Given the description of an element on the screen output the (x, y) to click on. 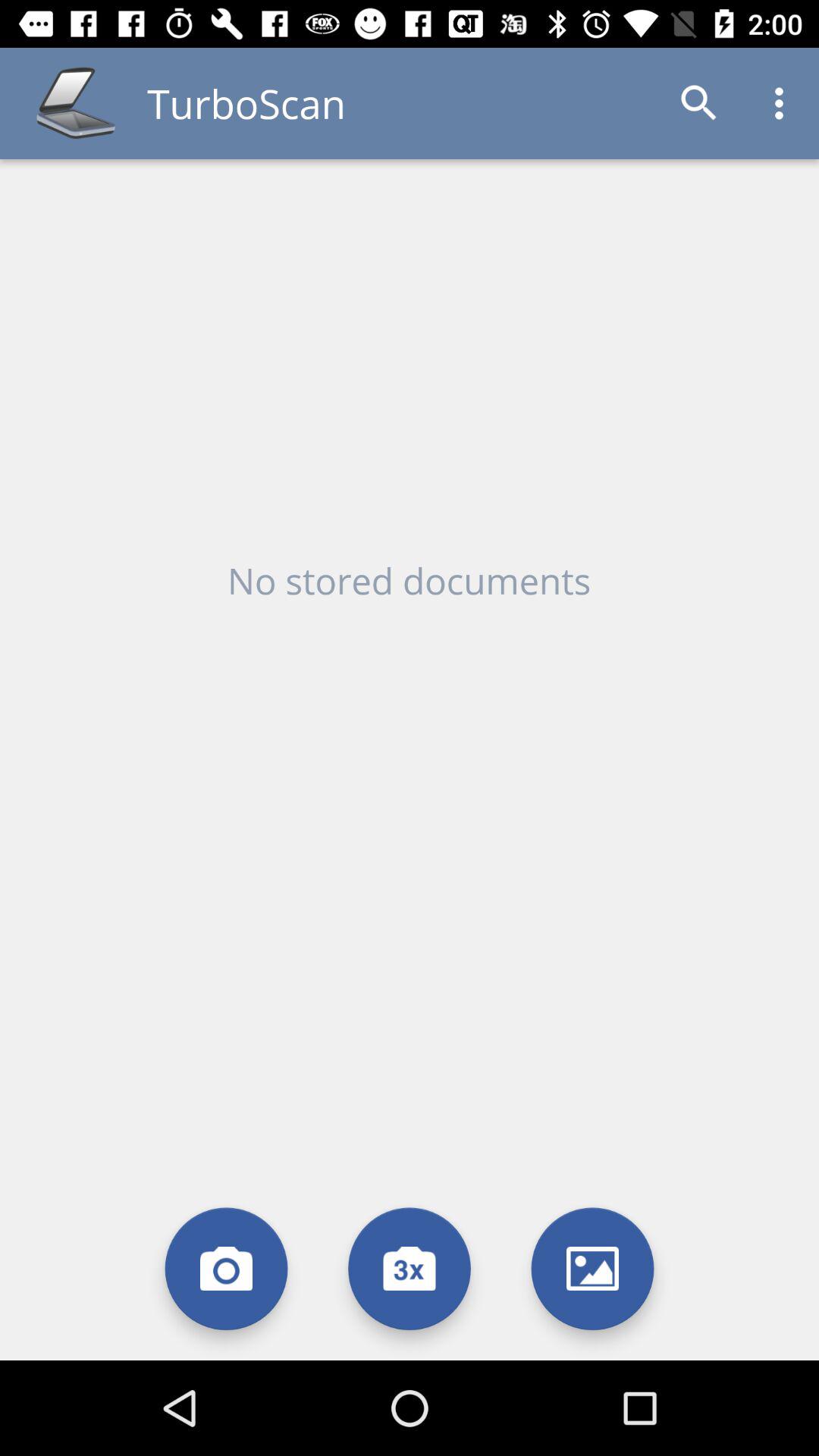
click the item next to the turboscan item (699, 103)
